Given the description of an element on the screen output the (x, y) to click on. 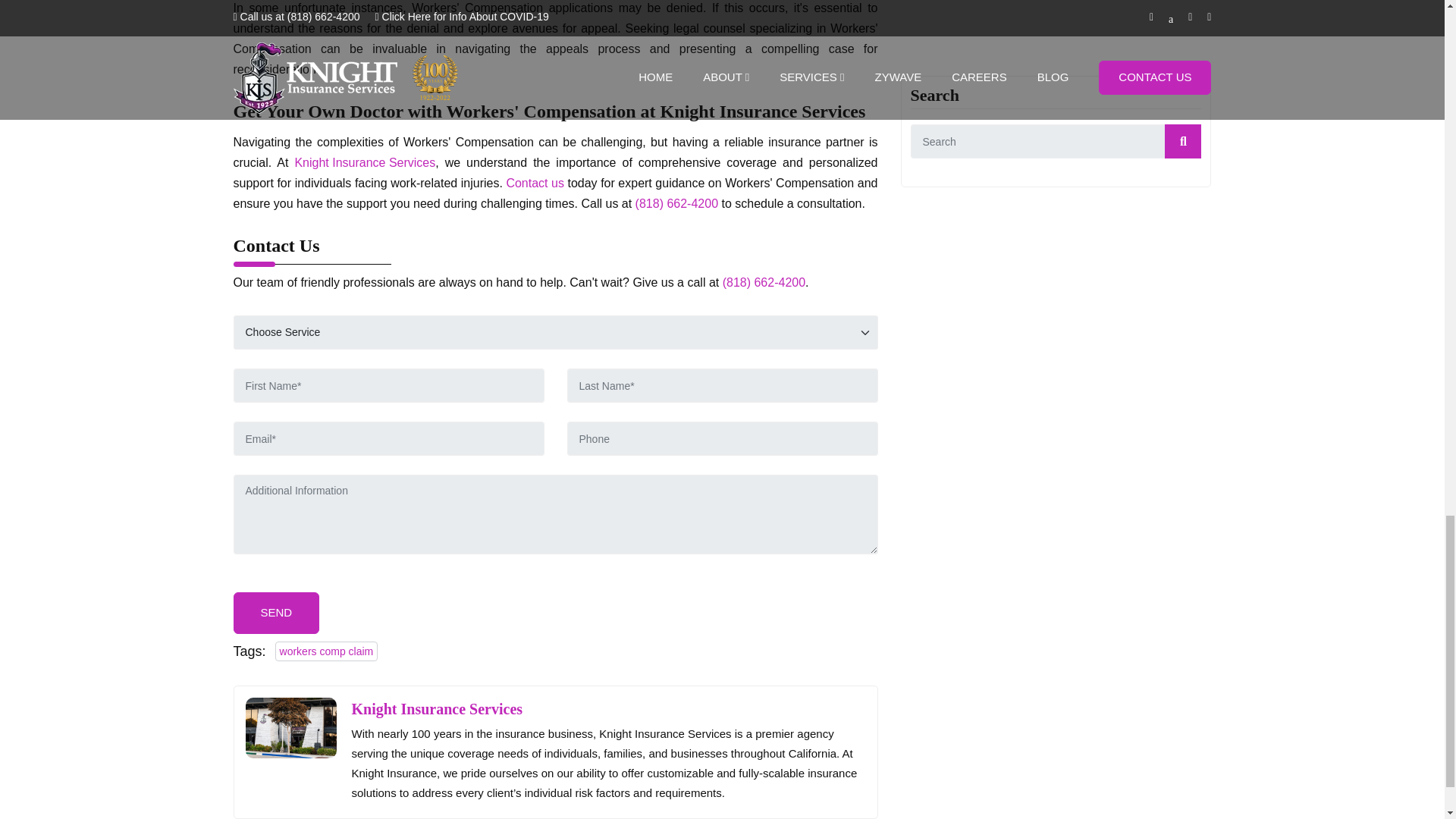
Knight Insurance Services (364, 162)
Knight Insurance Services (437, 708)
workers comp claim (326, 650)
Contact us (534, 182)
